Given the description of an element on the screen output the (x, y) to click on. 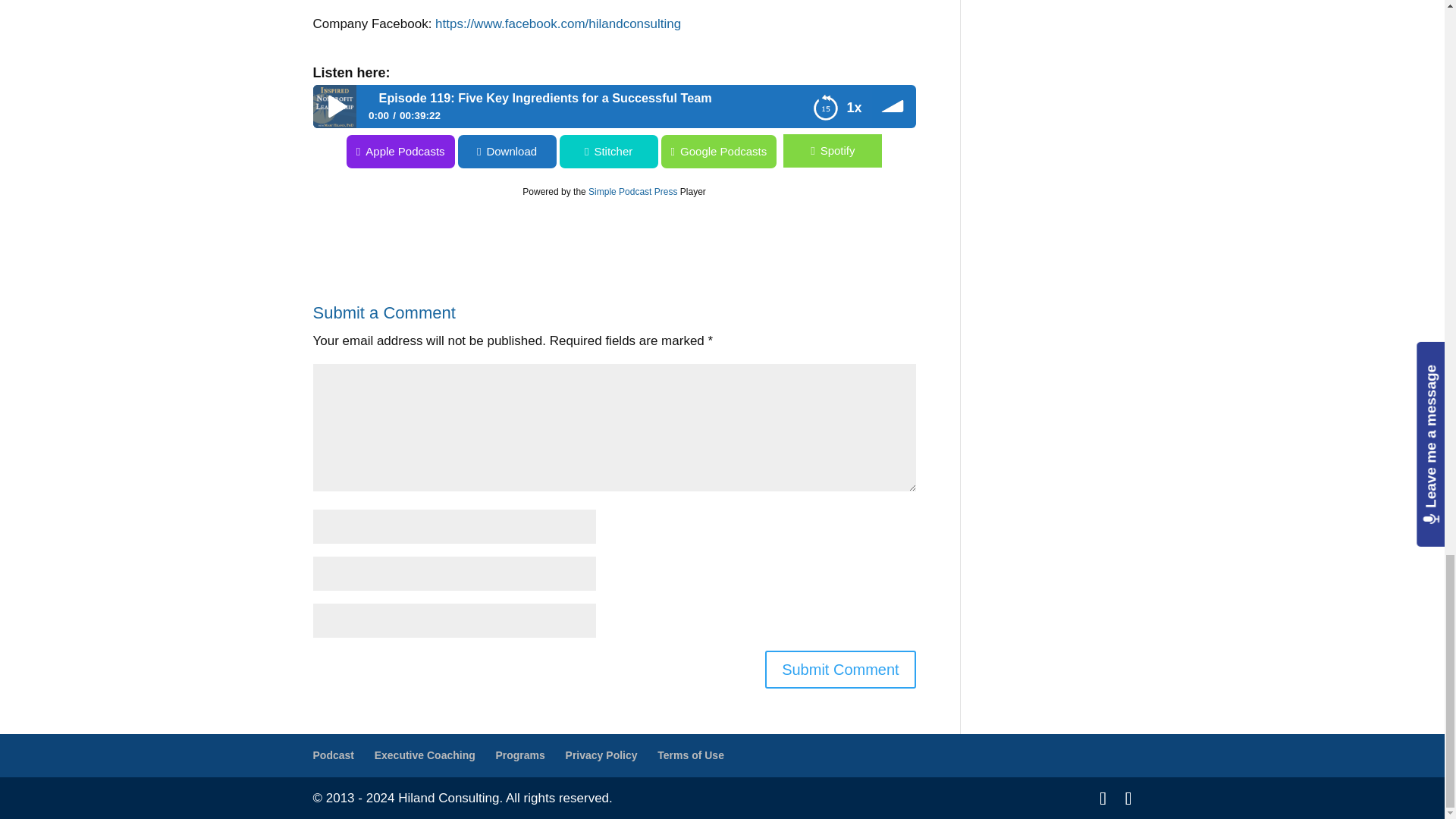
Submit Comment (840, 669)
